Given the description of an element on the screen output the (x, y) to click on. 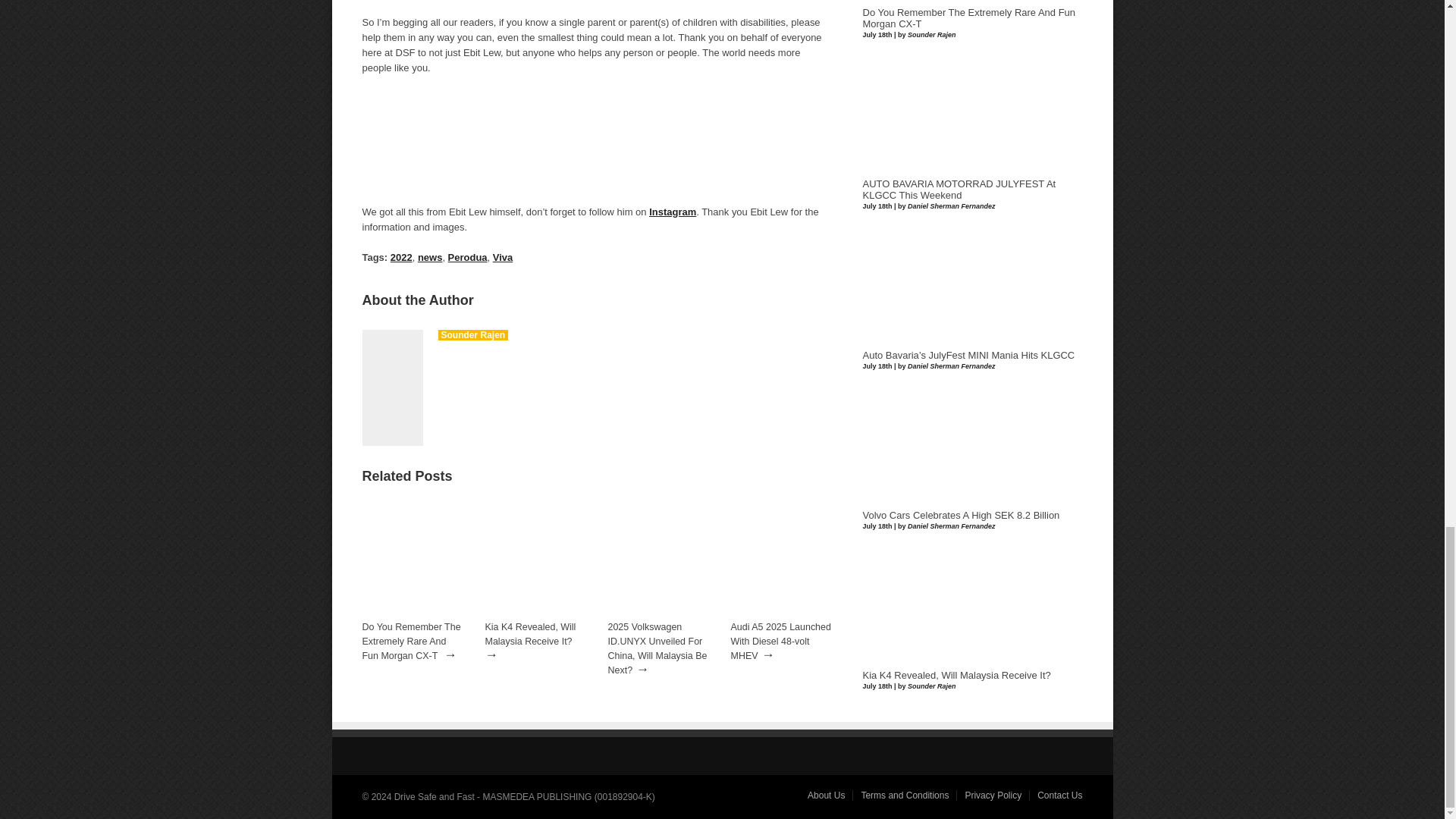
Sounder Rajen (473, 335)
Kia K4 Revealed, Will Malaysia Receive It? (530, 634)
Volvo Cars Celebrates A High SEK 8.2 Billion (961, 515)
Audi A5 2025 Launched With Diesel 48-volt MHEV (781, 614)
AUTO BAVARIA MOTORRAD JULYFEST At KLGCC This Weekend (960, 189)
Audi A5 2025 Launched With Diesel 48-volt MHEV (780, 640)
Viva (502, 256)
Posts by Sounder Rajen (473, 335)
Kia K4 Revealed, Will Malaysia Receive It? (530, 634)
Do You Remember The Extremely Rare And Fun Morgan CX-T  (411, 640)
